Given the description of an element on the screen output the (x, y) to click on. 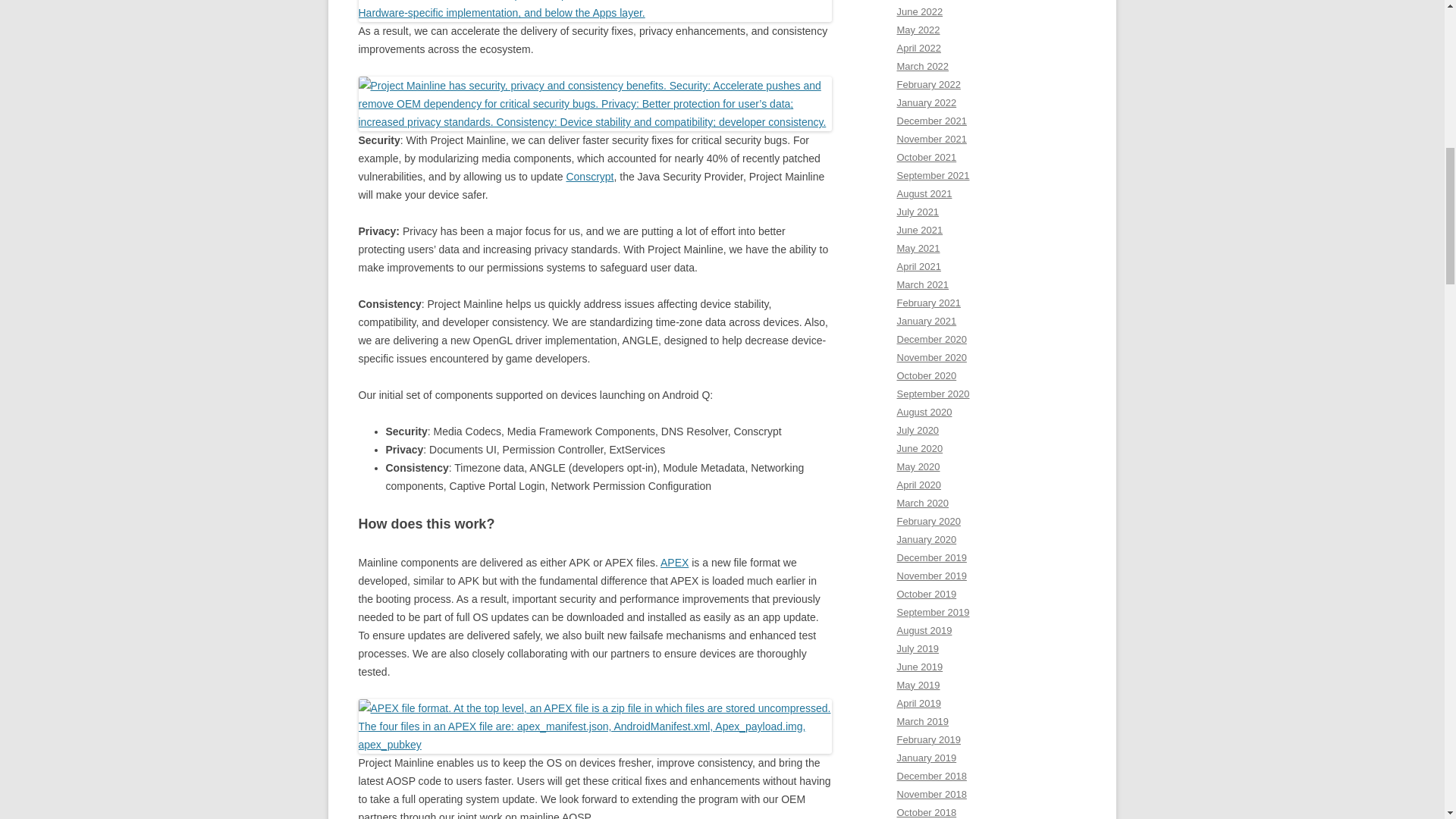
Conscrypt (589, 176)
APEX (674, 562)
